Given the description of an element on the screen output the (x, y) to click on. 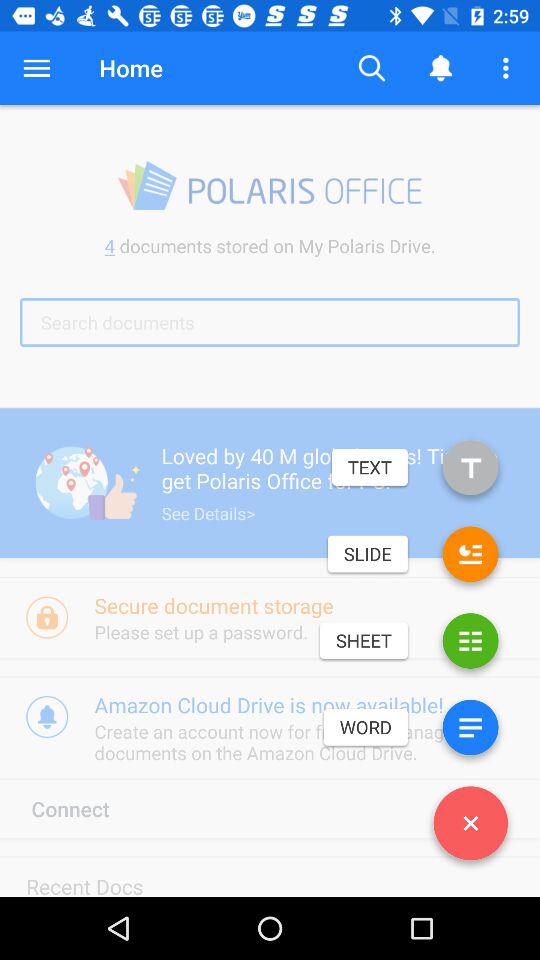
swipe until home button (130, 68)
